Given the description of an element on the screen output the (x, y) to click on. 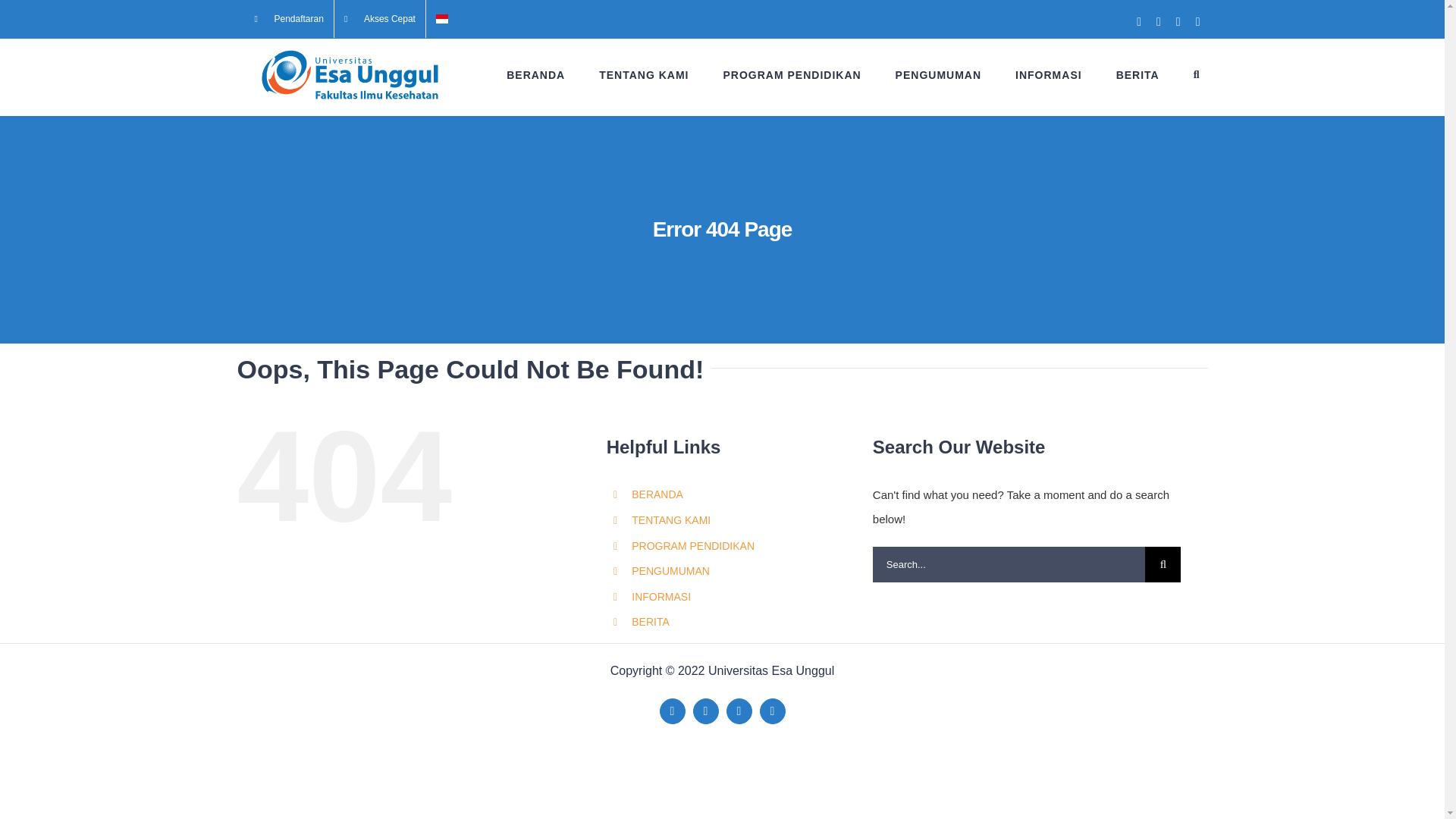
Pendaftaran (288, 18)
Akses Cepat (379, 18)
PROGRAM PENDIDIKAN (791, 74)
TENTANG KAMI (643, 74)
Facebook (672, 710)
Instagram (773, 710)
Twitter (706, 710)
YouTube (739, 710)
